Given the description of an element on the screen output the (x, y) to click on. 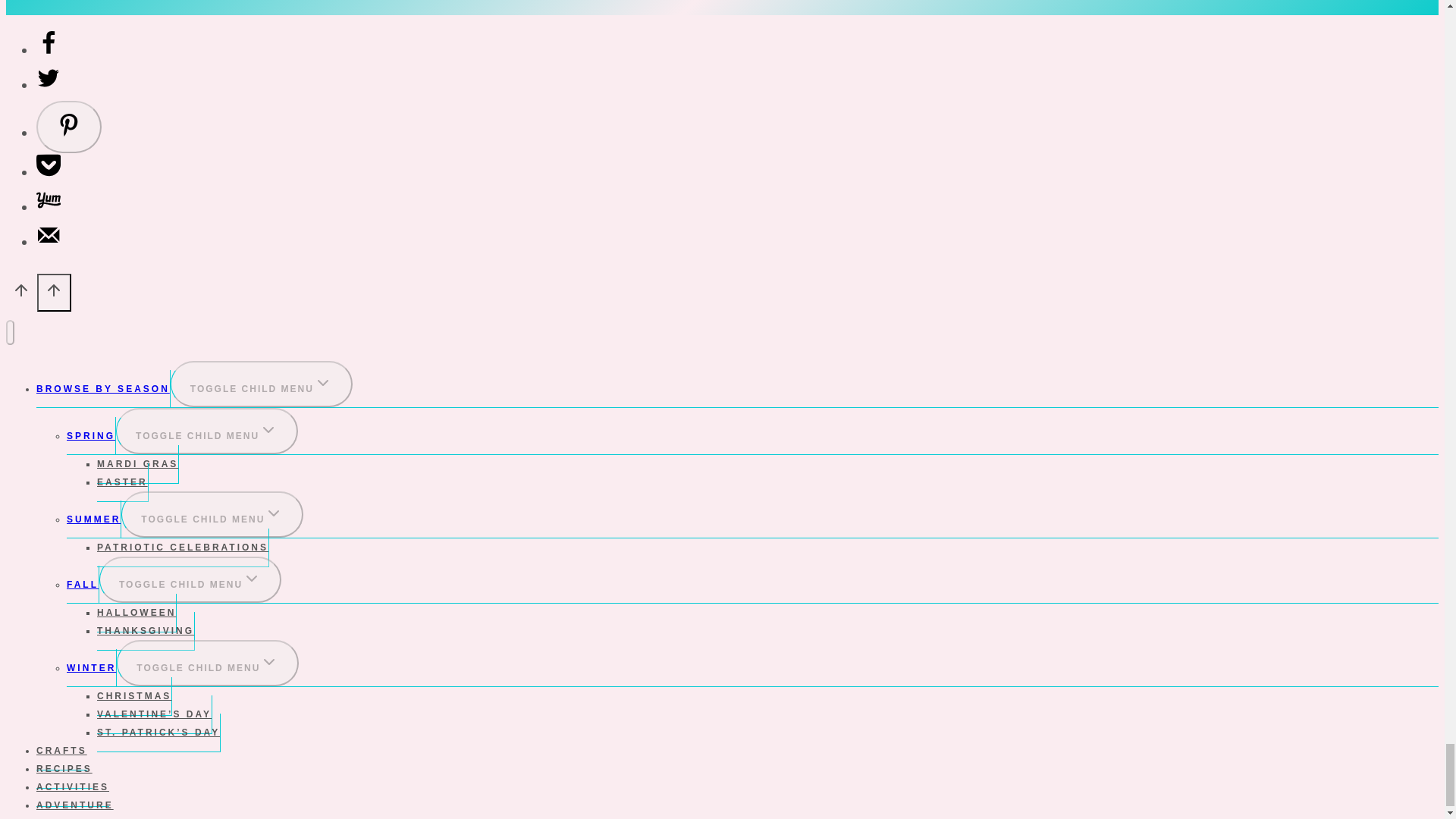
Share on Facebook (48, 49)
Share on Pocket (48, 171)
SCROLL TO TOP (54, 292)
Share on Yummly (48, 206)
Share on Twitter (48, 84)
Scroll to top (21, 294)
Save to Pinterest (68, 126)
Send over email (48, 241)
